Given the description of an element on the screen output the (x, y) to click on. 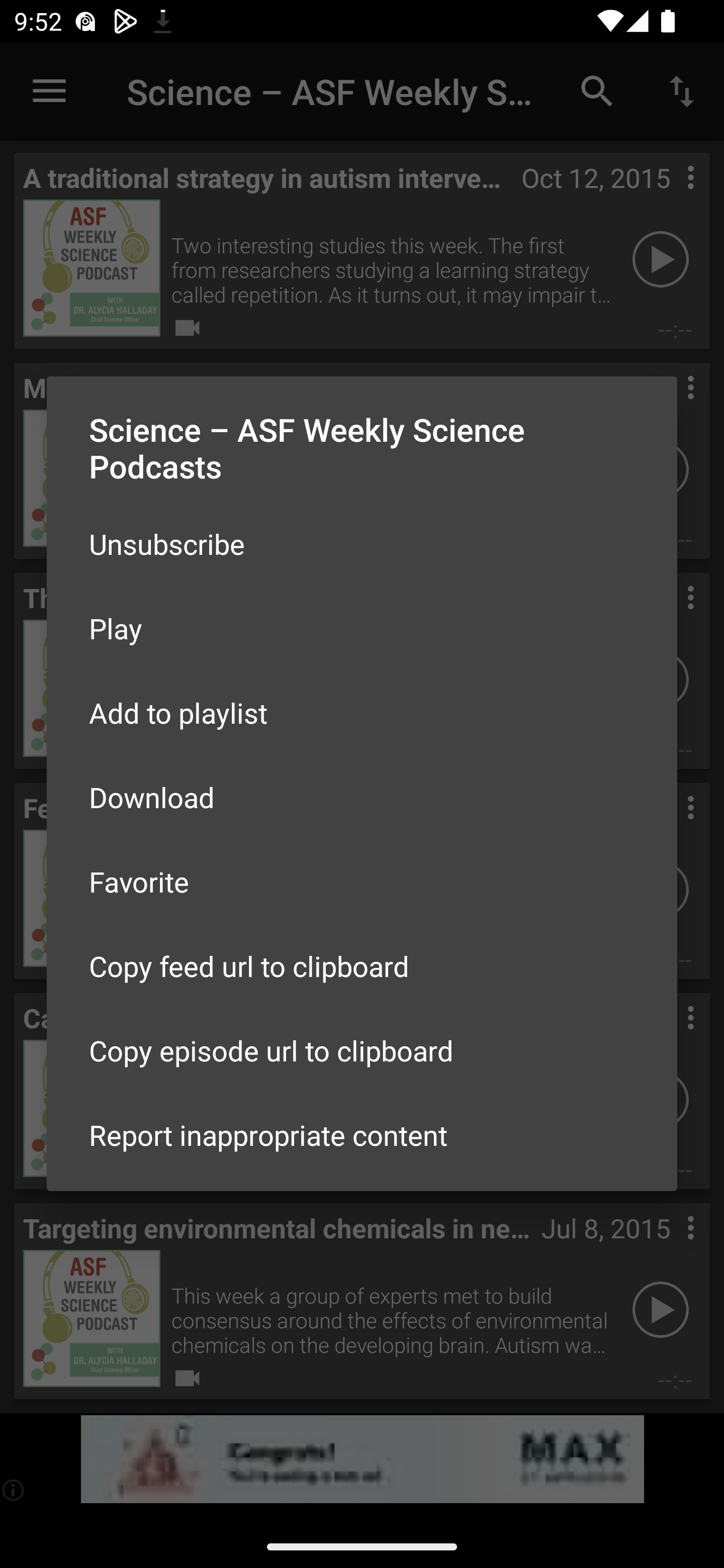
Unsubscribe (361, 543)
Play (361, 628)
Add to playlist (361, 712)
Download (361, 796)
Favorite (361, 880)
Copy feed url to clipboard (361, 965)
Copy episode url to clipboard (361, 1050)
Report inappropriate content (361, 1134)
